Given the description of an element on the screen output the (x, y) to click on. 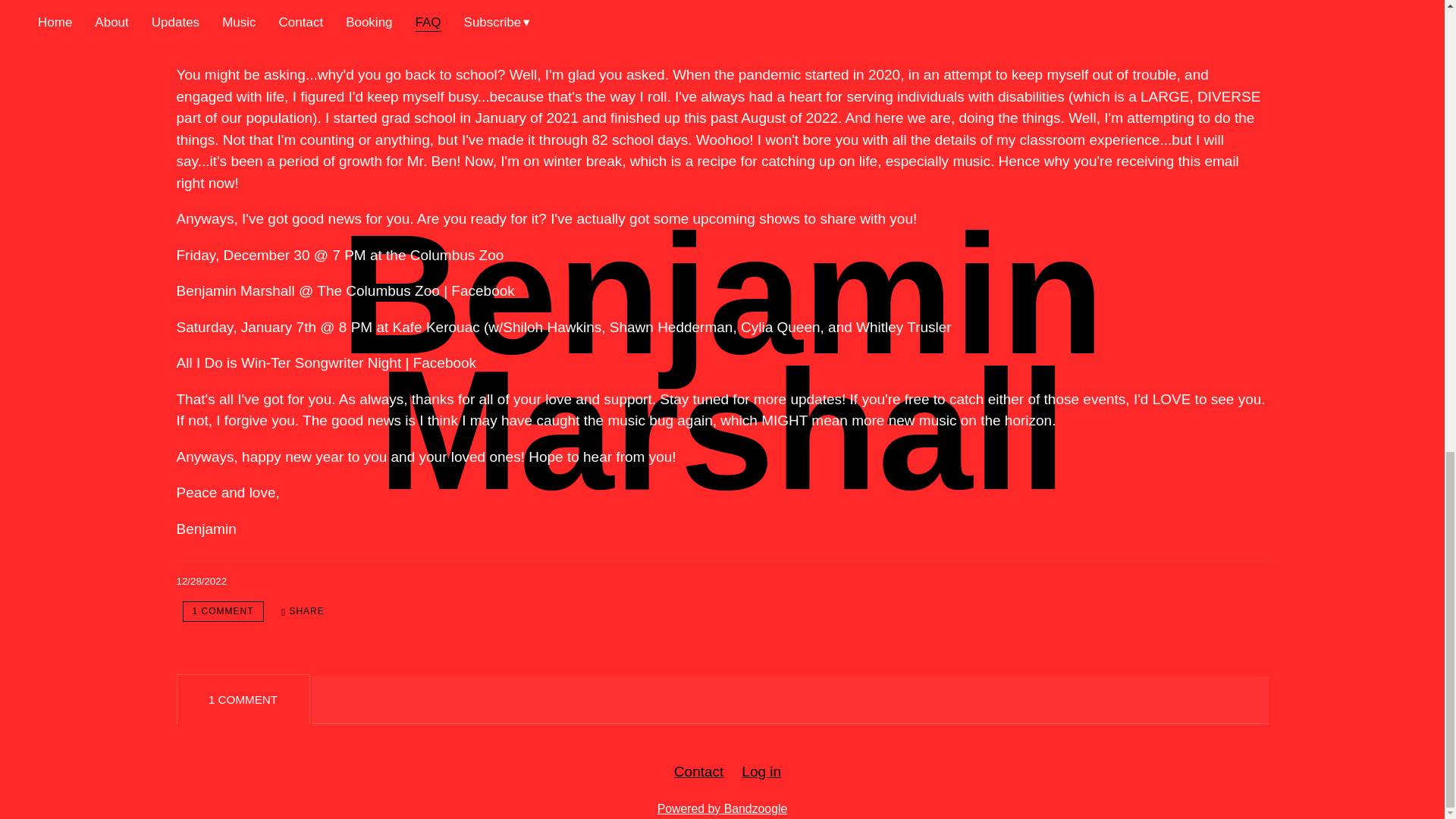
Powered by Bandzoogle (722, 808)
1 comment (222, 611)
SHARE (302, 610)
Contact (698, 771)
Share Aloha from Benjamin (302, 610)
Log in (760, 771)
Powered by Bandzoogle (722, 808)
December 28, 2022 13:55 (201, 581)
1 COMMENT (222, 611)
